Given the description of an element on the screen output the (x, y) to click on. 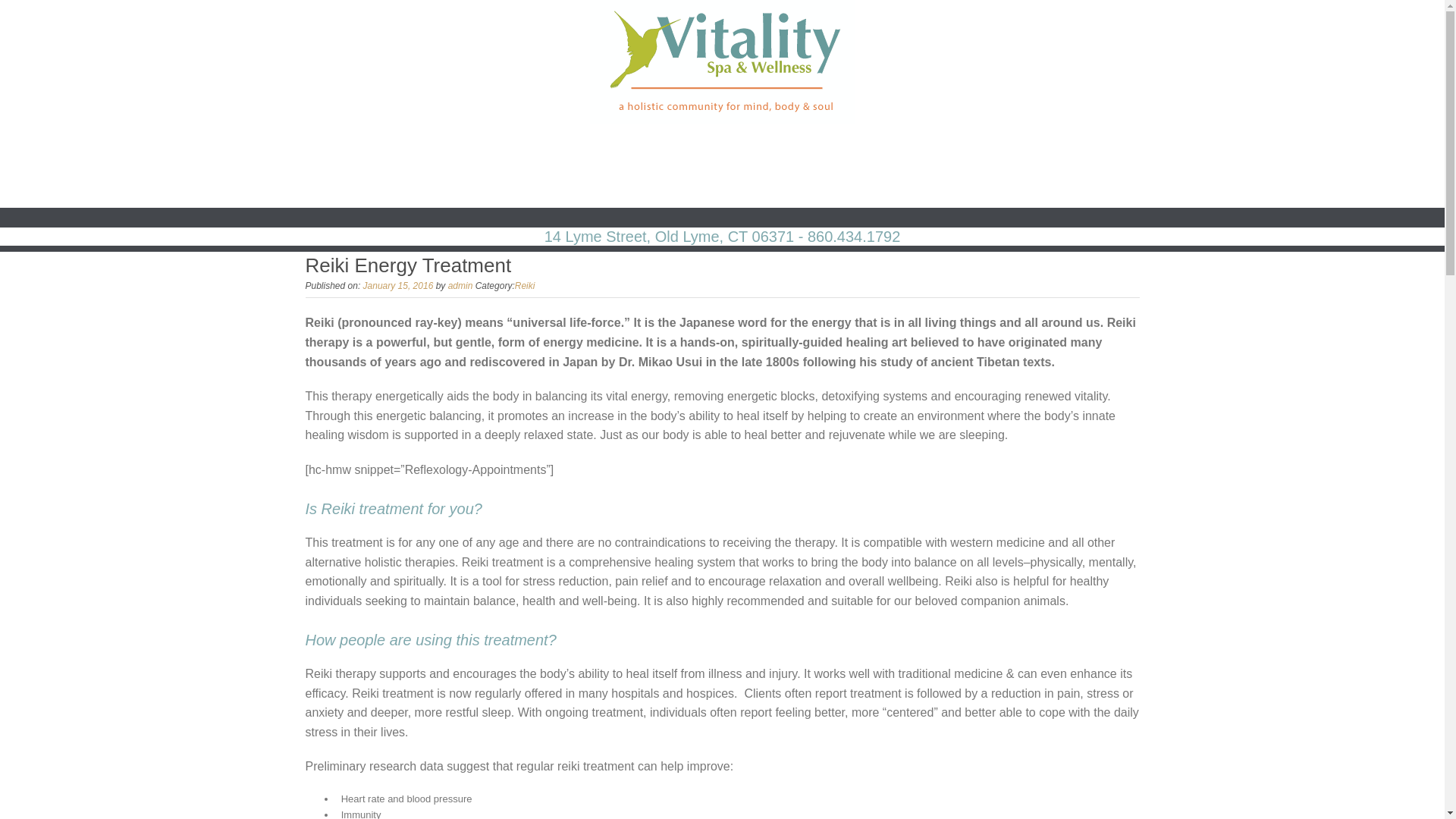
Reiki (525, 285)
January 15, 2016 (397, 285)
FIRST VISIT? (1094, 149)
EAST MEETS WEST (369, 149)
PEDICURES (779, 149)
ORGANIC SKINCARE (591, 149)
GIFTS (939, 149)
WAXING (698, 149)
admin (460, 285)
OUR TEAM (869, 149)
REVIEWS (1008, 149)
MASSAGE (478, 149)
CONTACT US (722, 188)
